Given the description of an element on the screen output the (x, y) to click on. 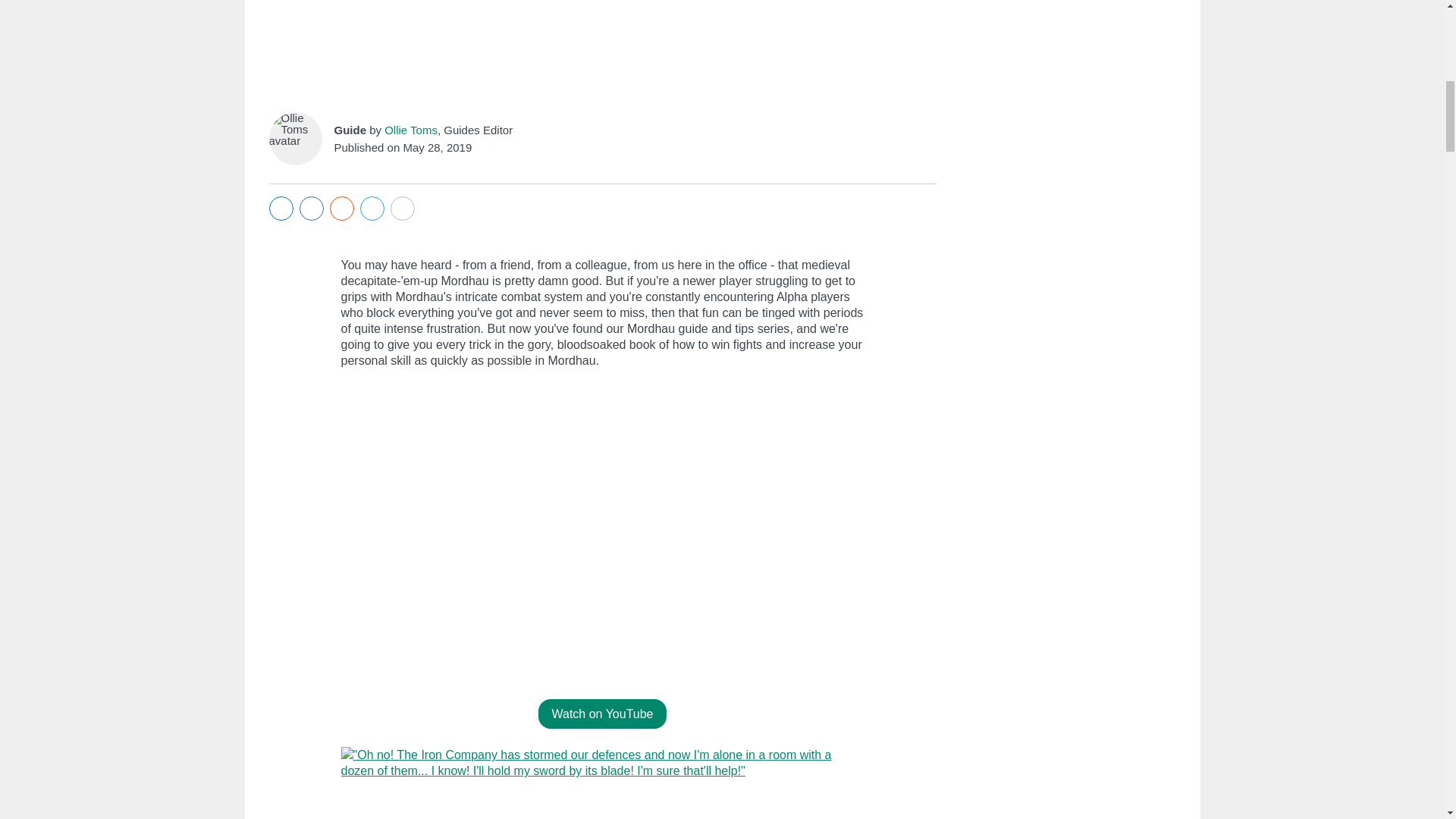
Ollie Toms (411, 129)
Share this via Facebook (311, 208)
Share this via Reddit (341, 208)
Copy URL (402, 208)
Share this via Twitter (372, 208)
Watch on YouTube (601, 713)
Share this via email (280, 208)
